Given the description of an element on the screen output the (x, y) to click on. 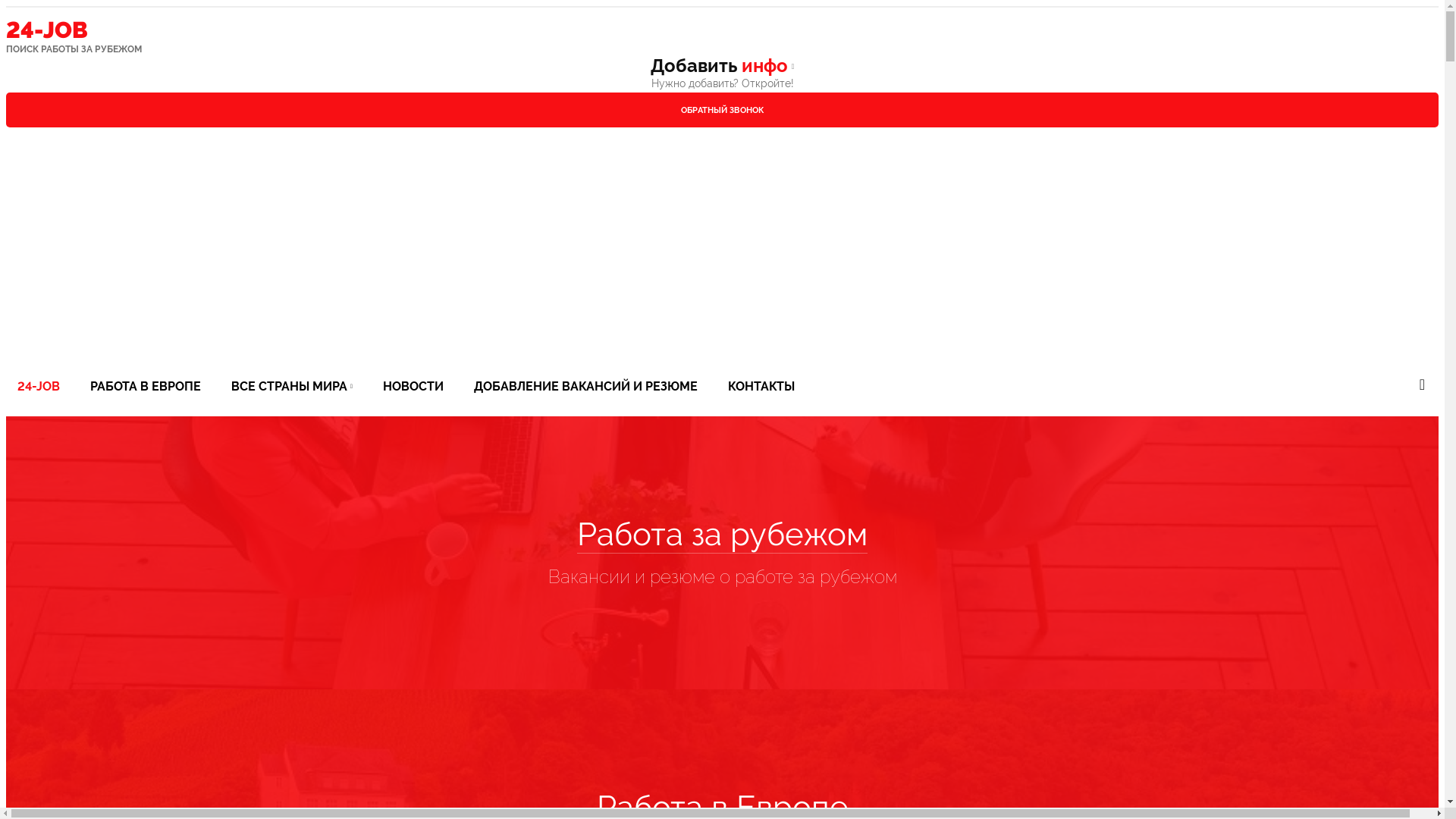
24-JOB Element type: text (38, 386)
Advertisement Element type: hover (721, 257)
